Given the description of an element on the screen output the (x, y) to click on. 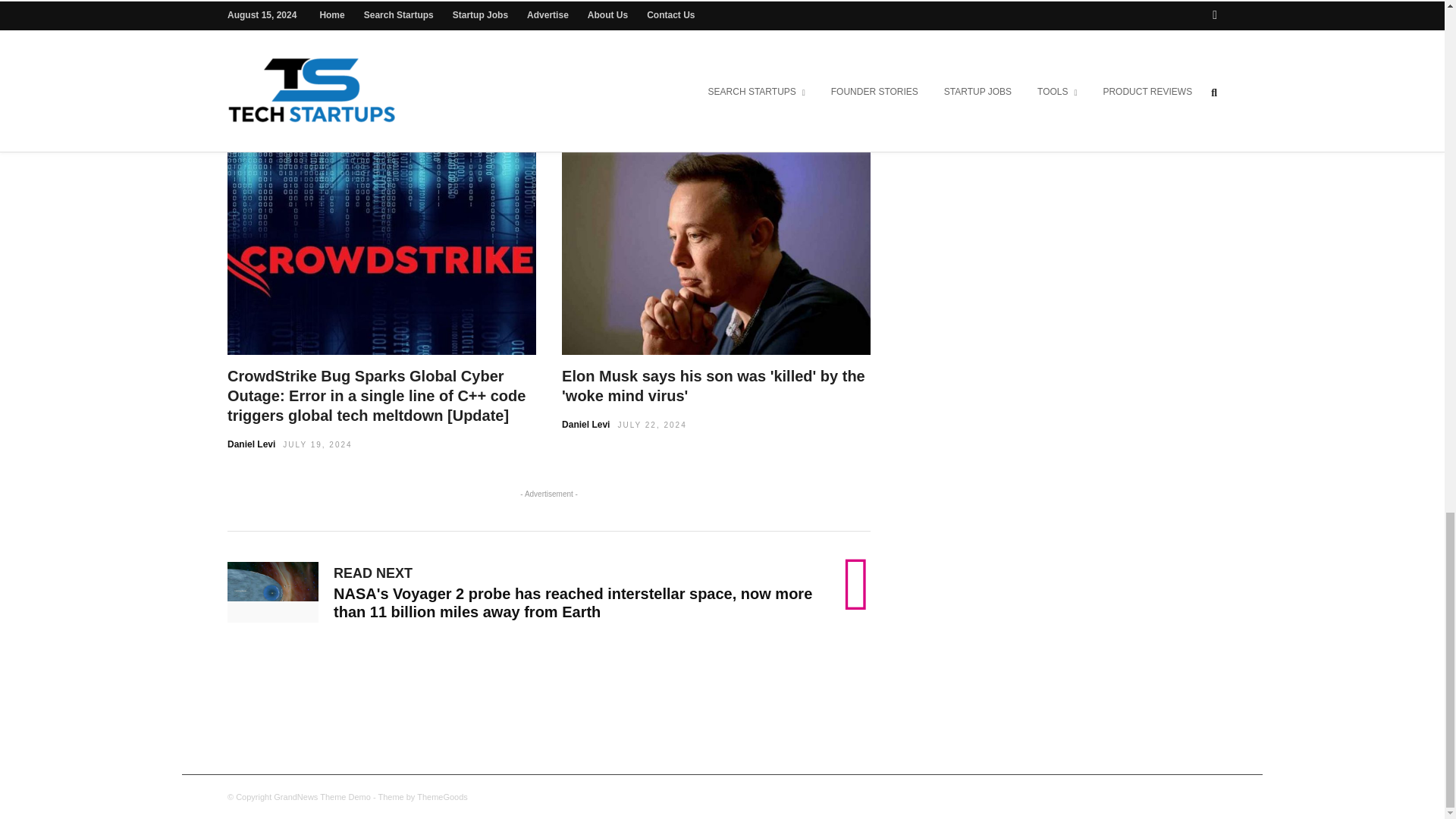
Share On Twitter (572, 28)
Share On Facebook (452, 28)
Share by Email (690, 28)
Share On Pinterest (642, 28)
